Given the description of an element on the screen output the (x, y) to click on. 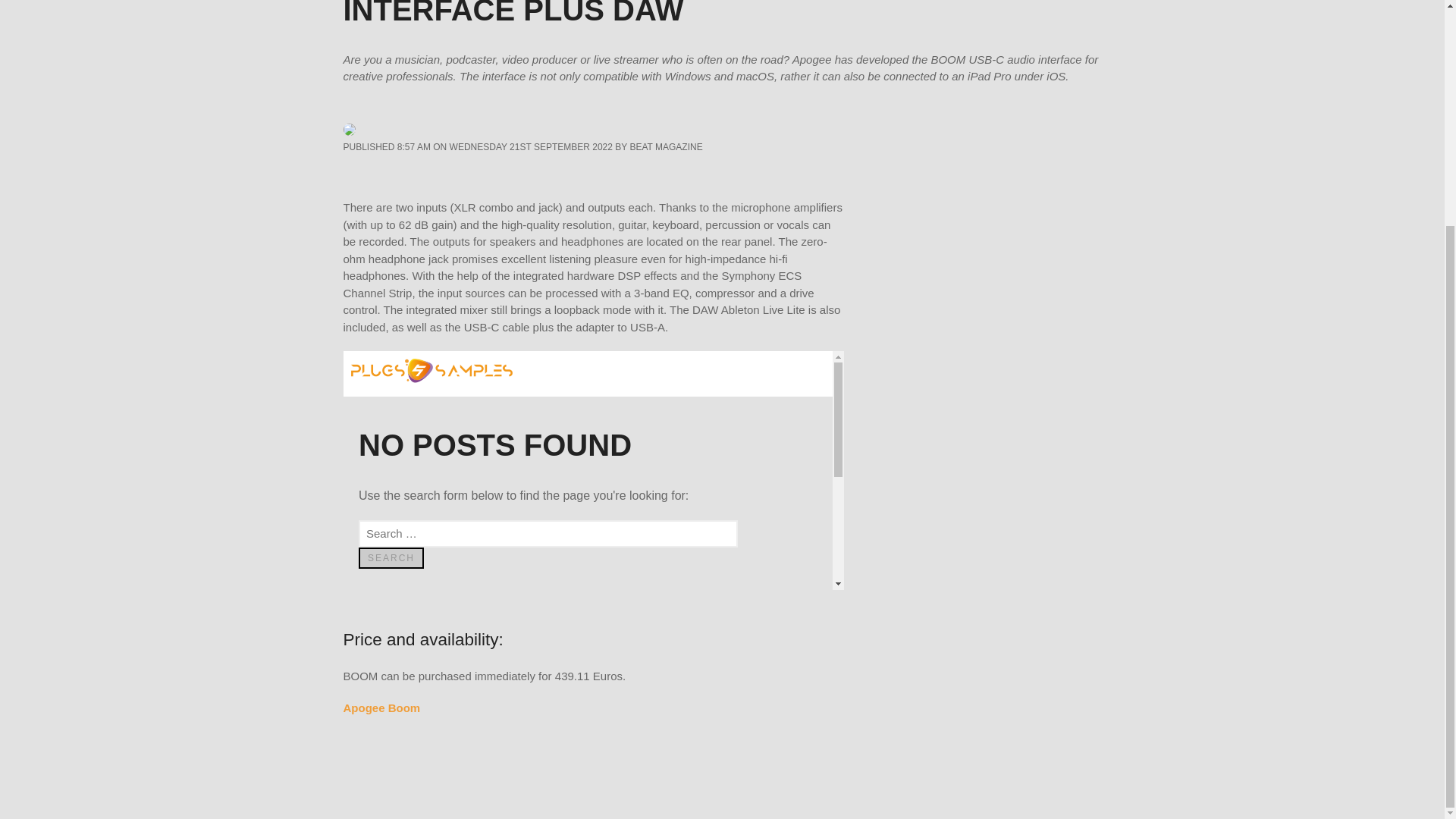
Apogee Boom (381, 707)
